Given the description of an element on the screen output the (x, y) to click on. 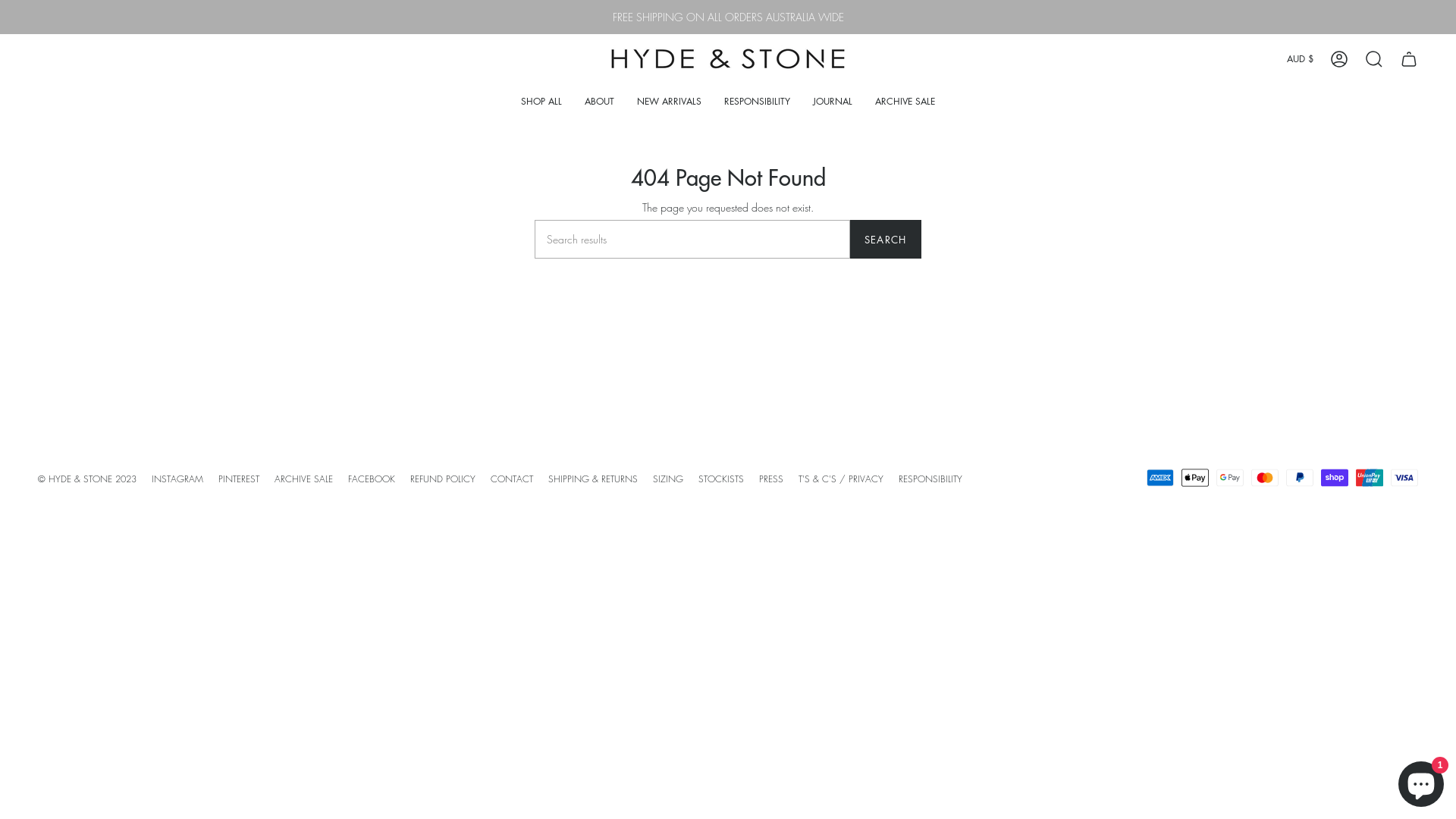
Account Element type: text (1338, 59)
SHOP ALL Element type: text (541, 101)
CONTACT Element type: text (511, 478)
Shopify online store chat Element type: hover (1420, 780)
Cart Element type: text (1408, 59)
T'S & C'S / PRIVACY Element type: text (840, 478)
SEARCH Element type: text (885, 238)
JOURNAL Element type: text (832, 101)
ARCHIVE SALE Element type: text (303, 478)
ARCHIVE SALE Element type: text (904, 101)
ABOUT Element type: text (599, 101)
SHIPPING & RETURNS Element type: text (592, 478)
FACEBOOK Element type: text (371, 478)
RESPONSIBILITY Element type: text (930, 478)
REFUND POLICY Element type: text (442, 478)
NEW ARRIVALS Element type: text (668, 101)
RESPONSIBILITY Element type: text (756, 101)
PINTEREST Element type: text (238, 478)
INSTAGRAM Element type: text (177, 478)
STOCKISTS Element type: text (720, 478)
PRESS Element type: text (771, 478)
AUD $ Element type: text (1299, 59)
SIZING Element type: text (667, 478)
